Given the description of an element on the screen output the (x, y) to click on. 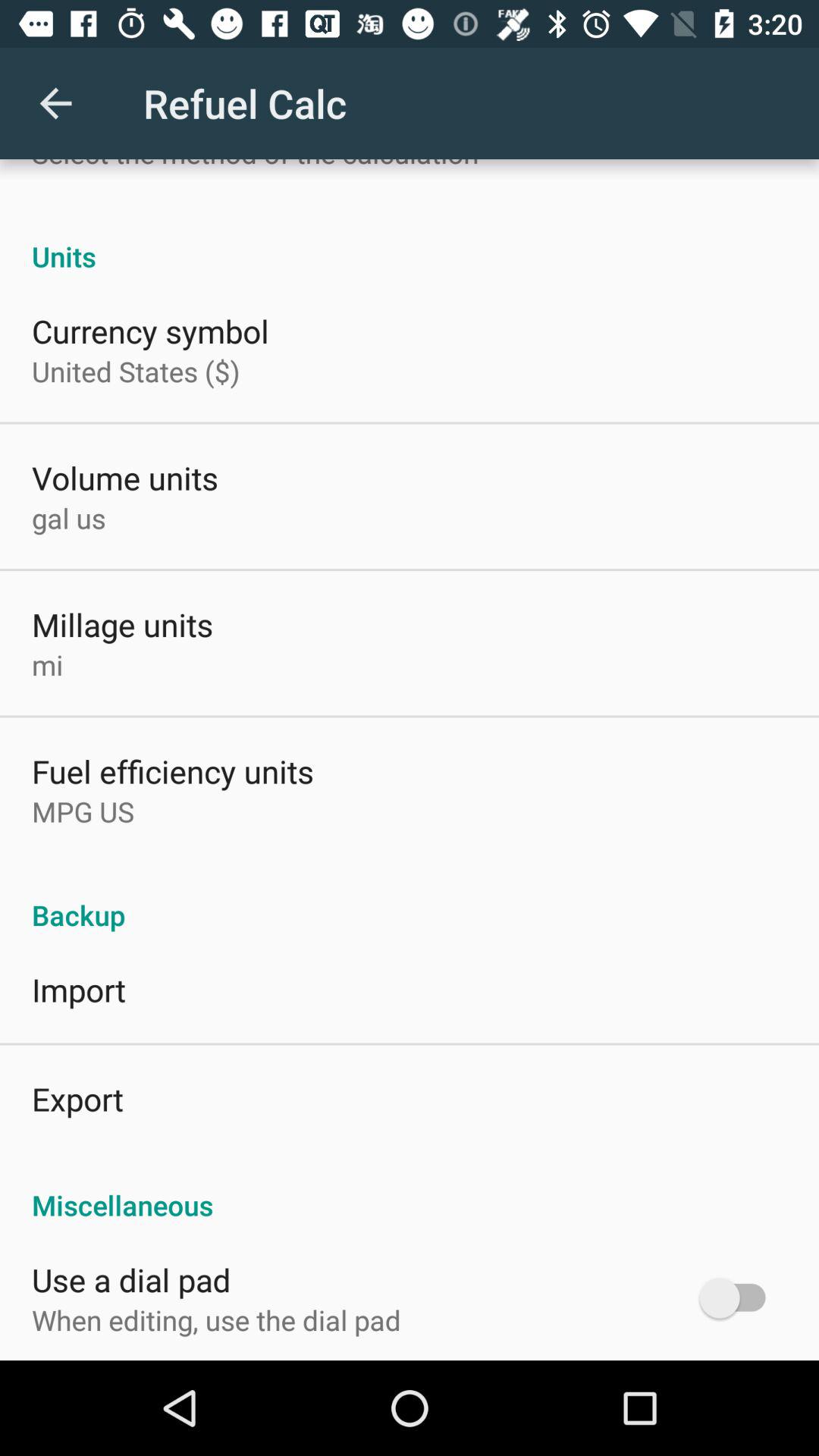
swipe until the select the method app (254, 165)
